Given the description of an element on the screen output the (x, y) to click on. 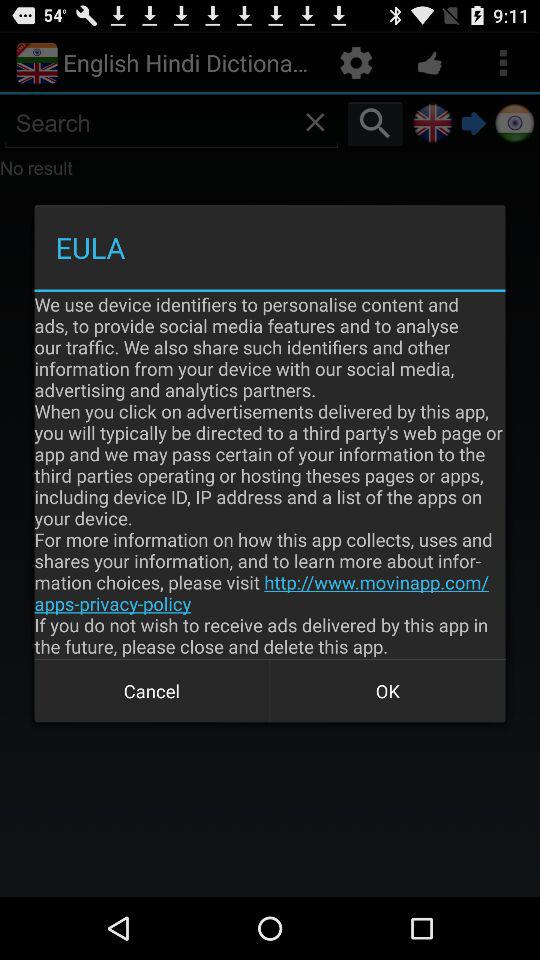
press icon at the bottom right corner (387, 690)
